Given the description of an element on the screen output the (x, y) to click on. 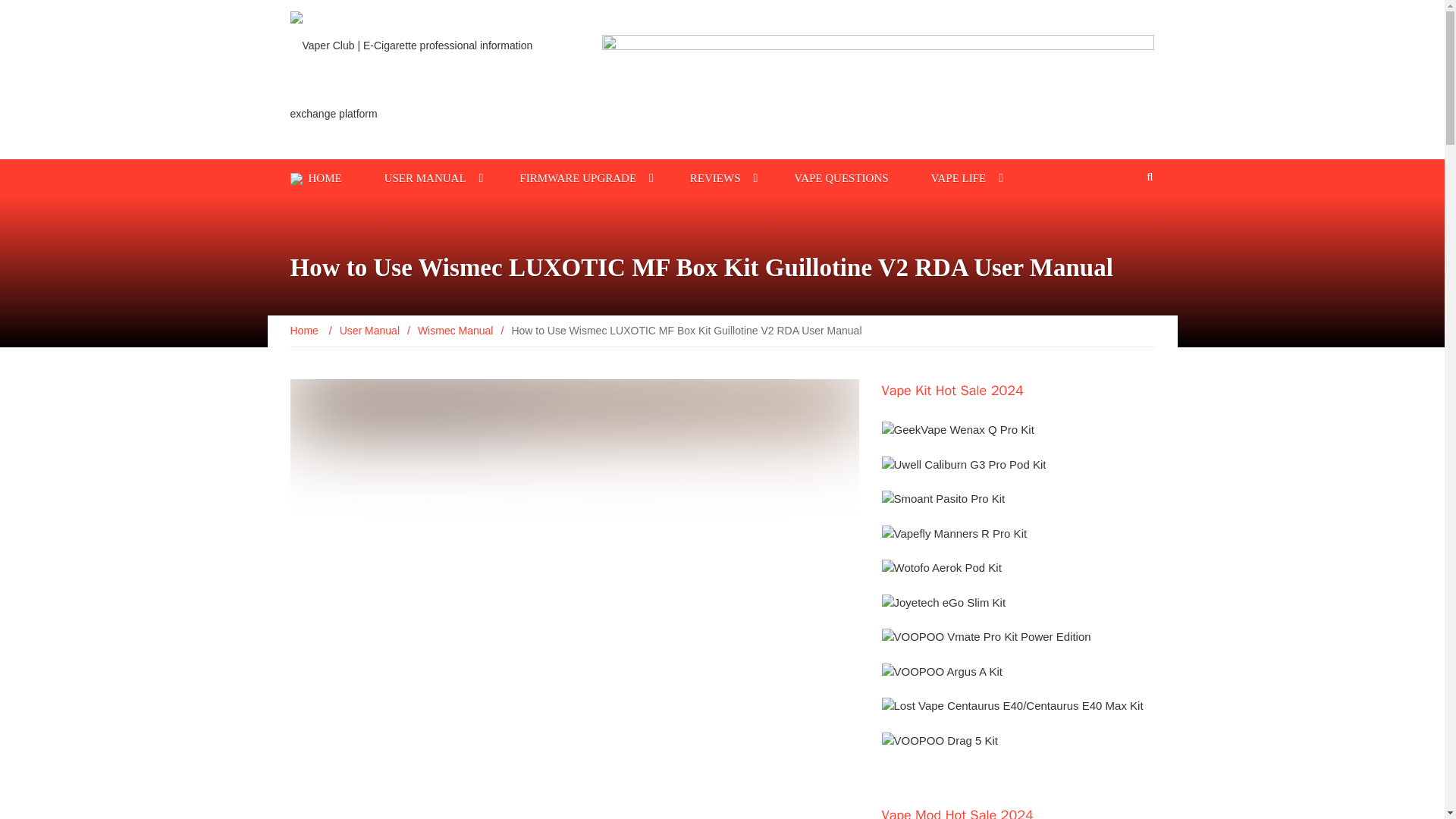
USER MANUAL (424, 176)
REVIEWS (715, 176)
FIRMWARE UPGRADE (577, 176)
HOME (324, 176)
VAPE LIFE (958, 176)
VAPE QUESTIONS (840, 176)
